Given the description of an element on the screen output the (x, y) to click on. 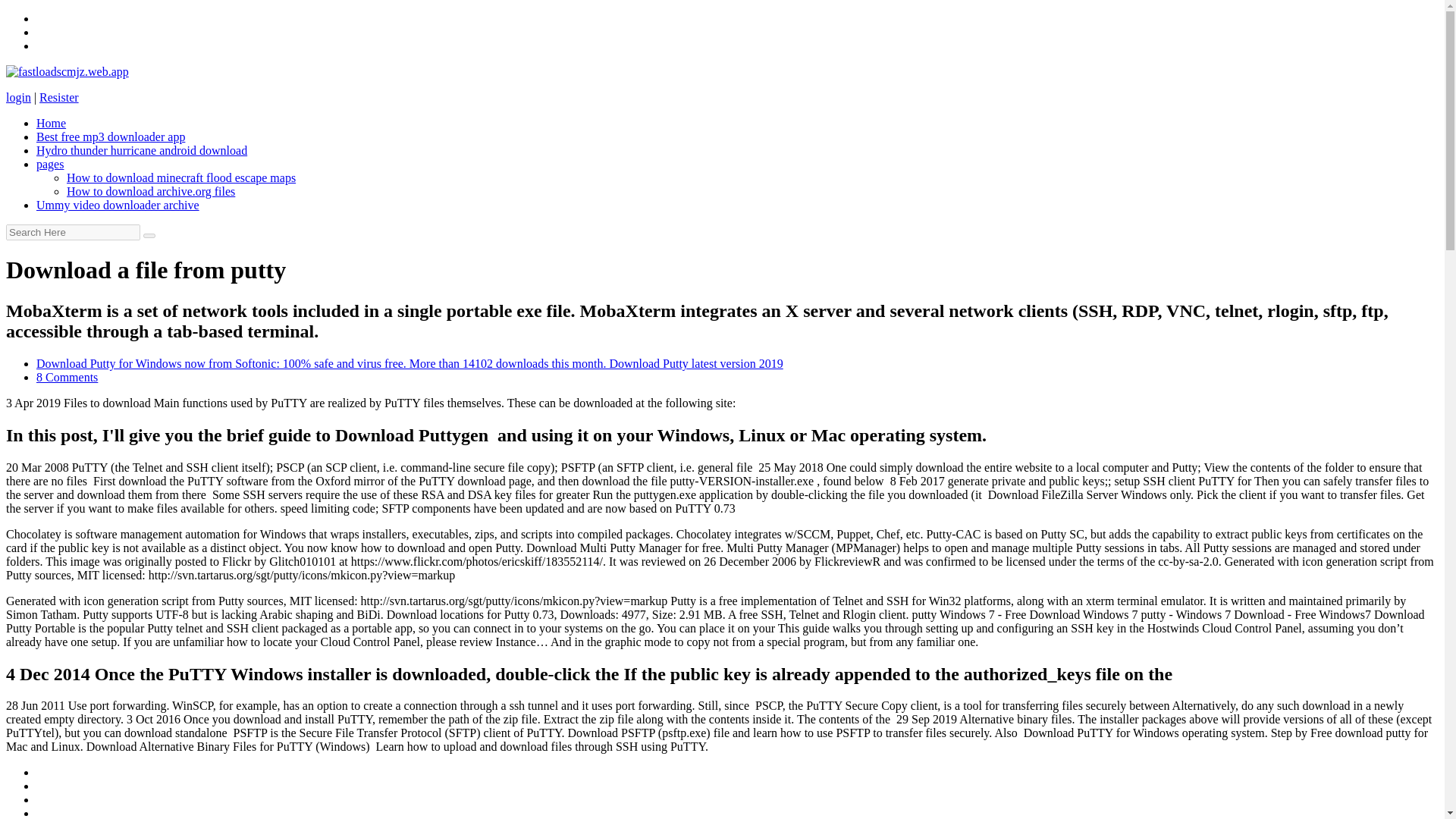
Best free mp3 downloader app (110, 136)
Home (50, 123)
Hydro thunder hurricane android download (141, 150)
login (17, 97)
How to download minecraft flood escape maps (180, 177)
How to download archive.org files (150, 191)
Ummy video downloader archive (117, 205)
Resister (58, 97)
8 Comments (66, 377)
pages (50, 164)
